Given the description of an element on the screen output the (x, y) to click on. 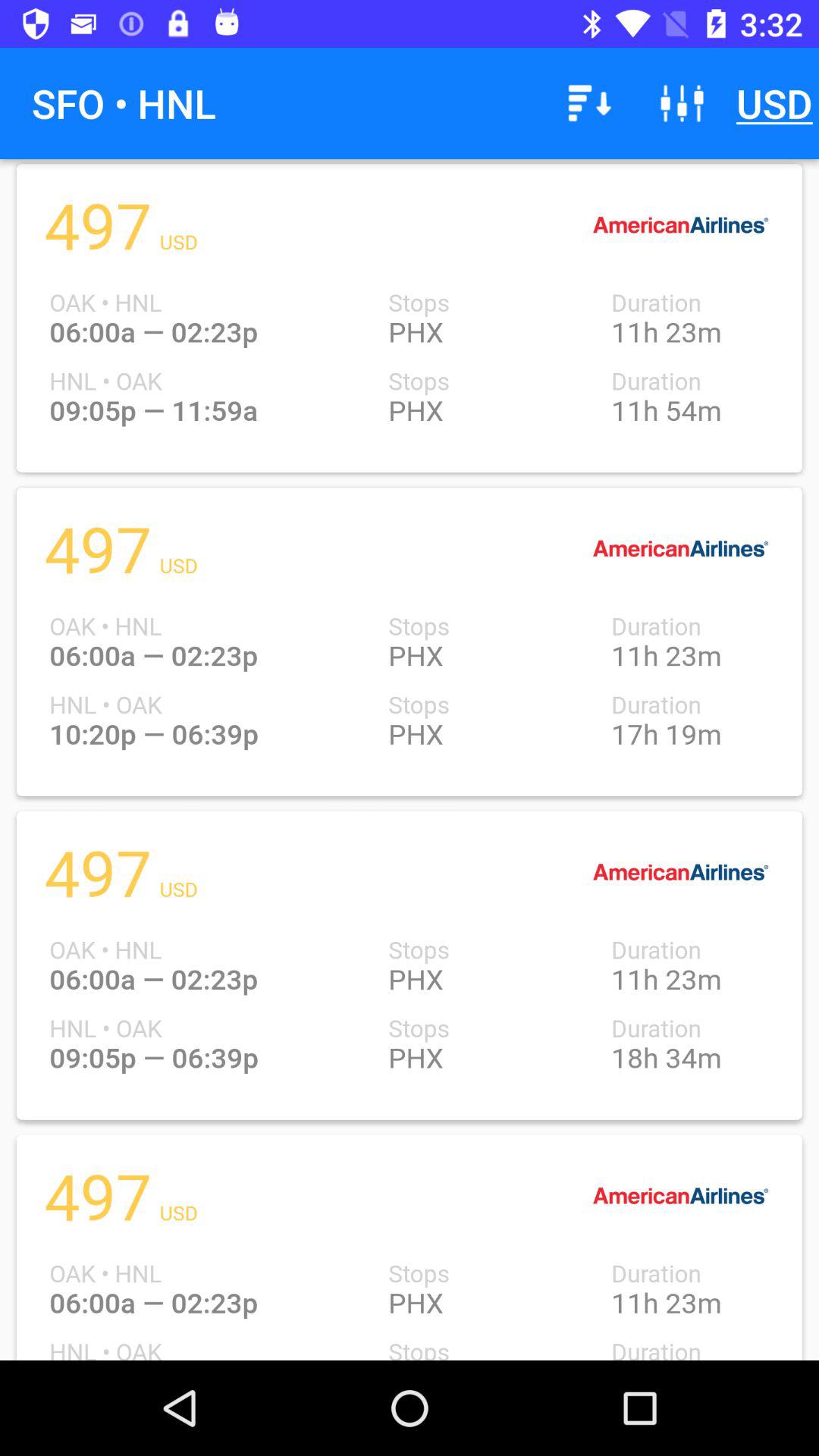
turn on icon to the left of usd item (682, 103)
